Given the description of an element on the screen output the (x, y) to click on. 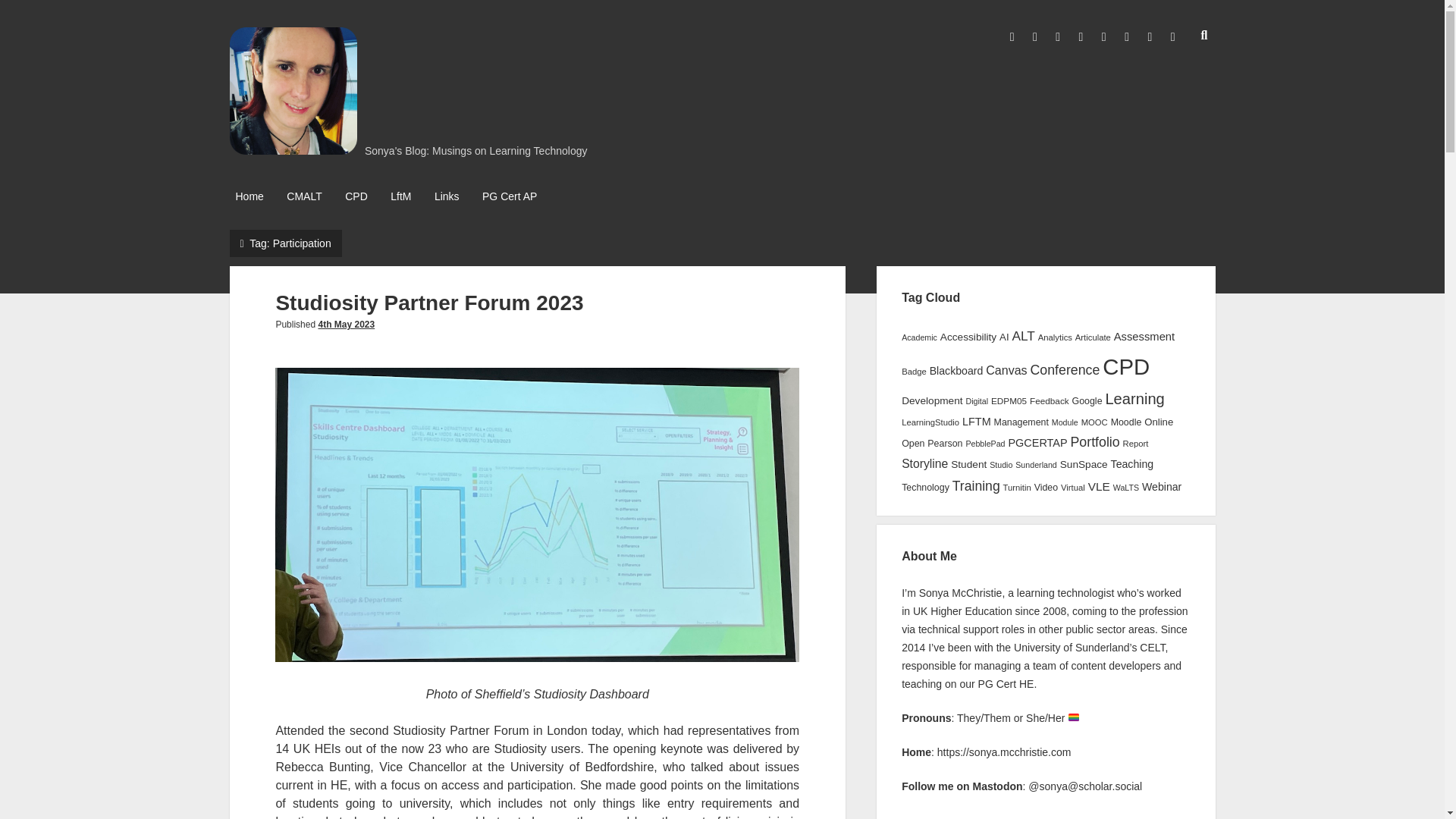
Sonya's Blog (292, 149)
bandcamp (1104, 37)
linkedin (1057, 37)
bandcamp (1104, 37)
PG Cert AP (509, 197)
twitter (1012, 37)
CMALT (304, 197)
CPD (356, 197)
Home (248, 197)
mastodon (1126, 37)
Studiosity Partner Forum 2023 (429, 302)
spotify (1172, 37)
Links (446, 197)
spotify (1172, 37)
4th May 2023 (345, 324)
